Given the description of an element on the screen output the (x, y) to click on. 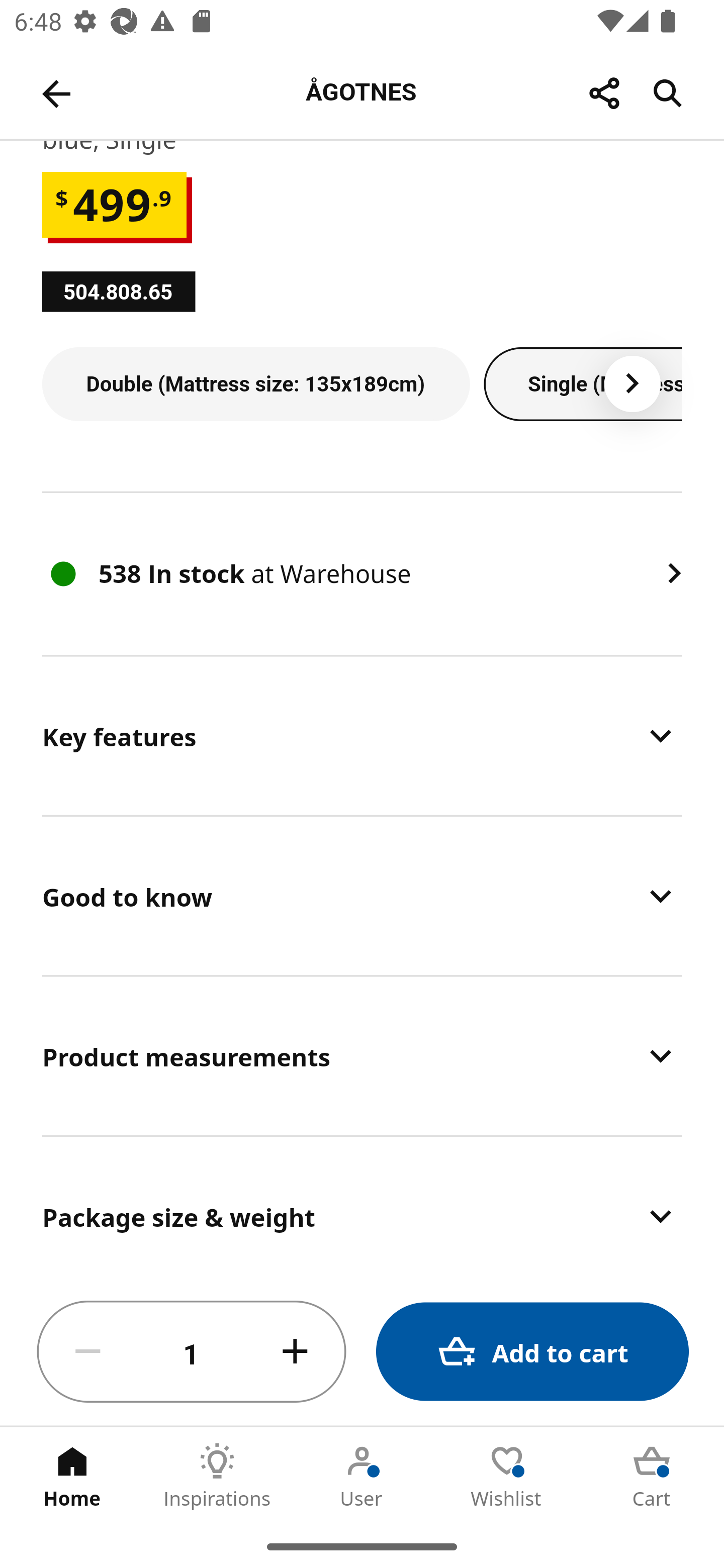
Double (Mattress size: 135x189cm) (255, 383)
538 In stock at Warehouse (361, 573)
Key features (361, 735)
Good to know (361, 895)
Product measurements (361, 1055)
Package size & weight (361, 1207)
Add to cart (531, 1352)
1 (191, 1352)
Home
Tab 1 of 5 (72, 1476)
Inspirations
Tab 2 of 5 (216, 1476)
User
Tab 3 of 5 (361, 1476)
Wishlist
Tab 4 of 5 (506, 1476)
Cart
Tab 5 of 5 (651, 1476)
